Given the description of an element on the screen output the (x, y) to click on. 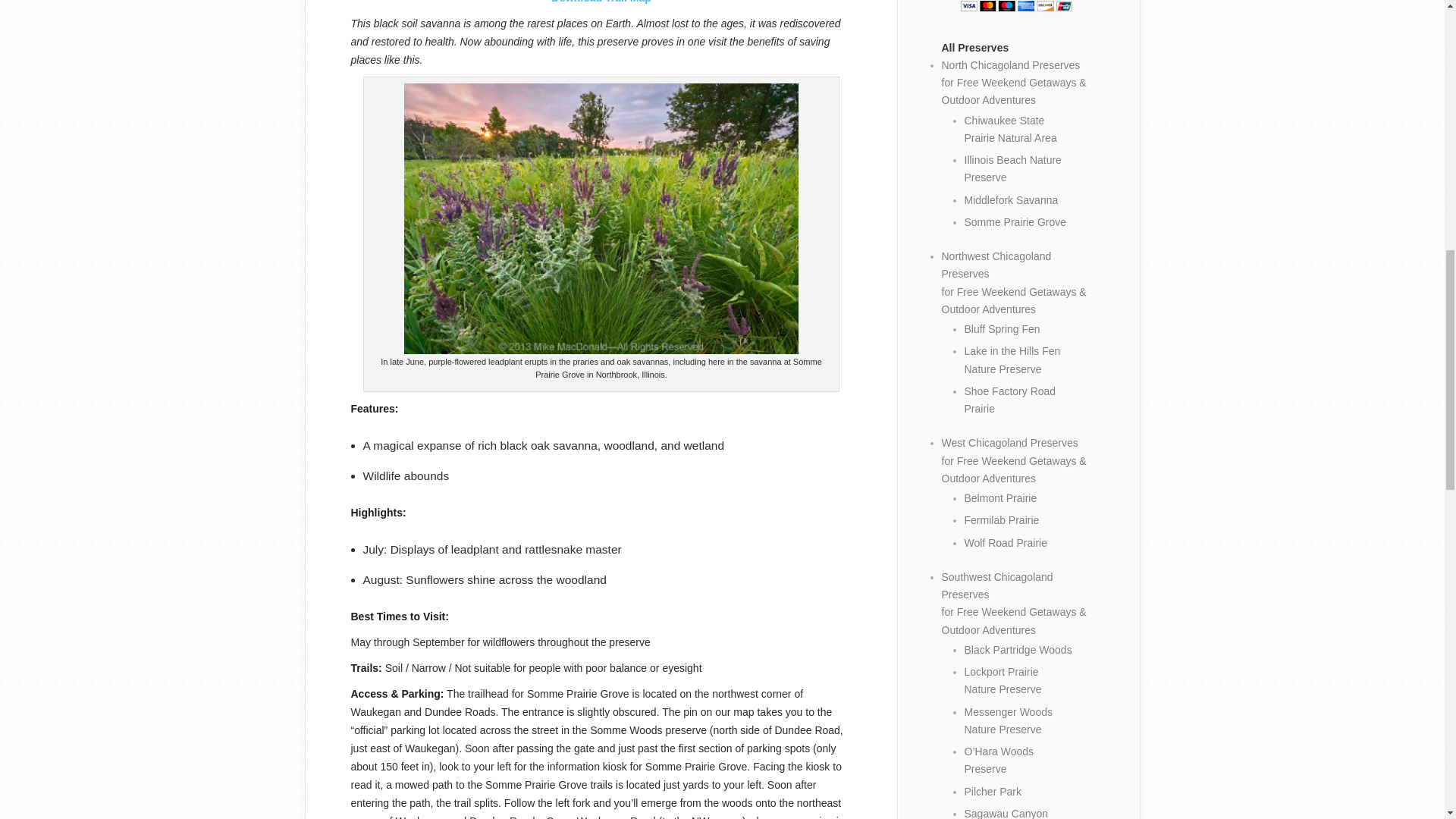
PayPal - The safer, easier way to pay online! (1015, 5)
